Given the description of an element on the screen output the (x, y) to click on. 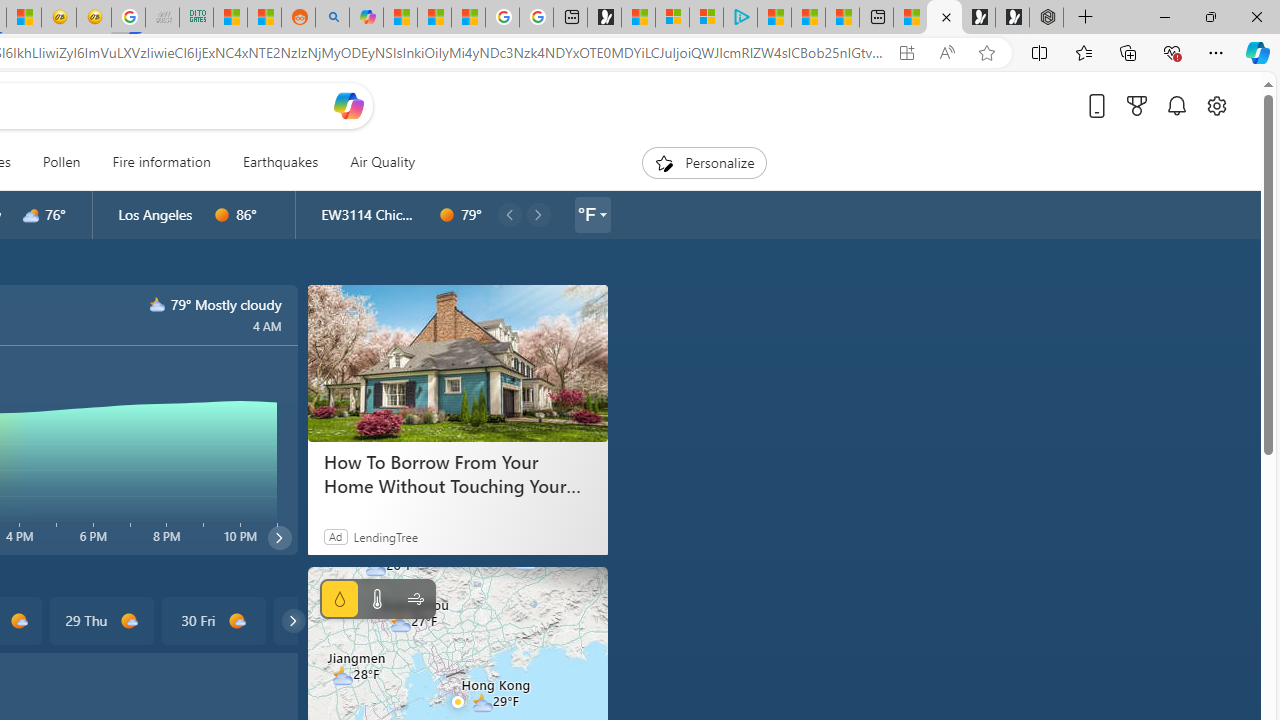
common/carouselChevron (293, 620)
locationBar/triangle (602, 214)
Earthquakes (280, 162)
d1000 (235, 621)
n3000 (157, 303)
